Given the description of an element on the screen output the (x, y) to click on. 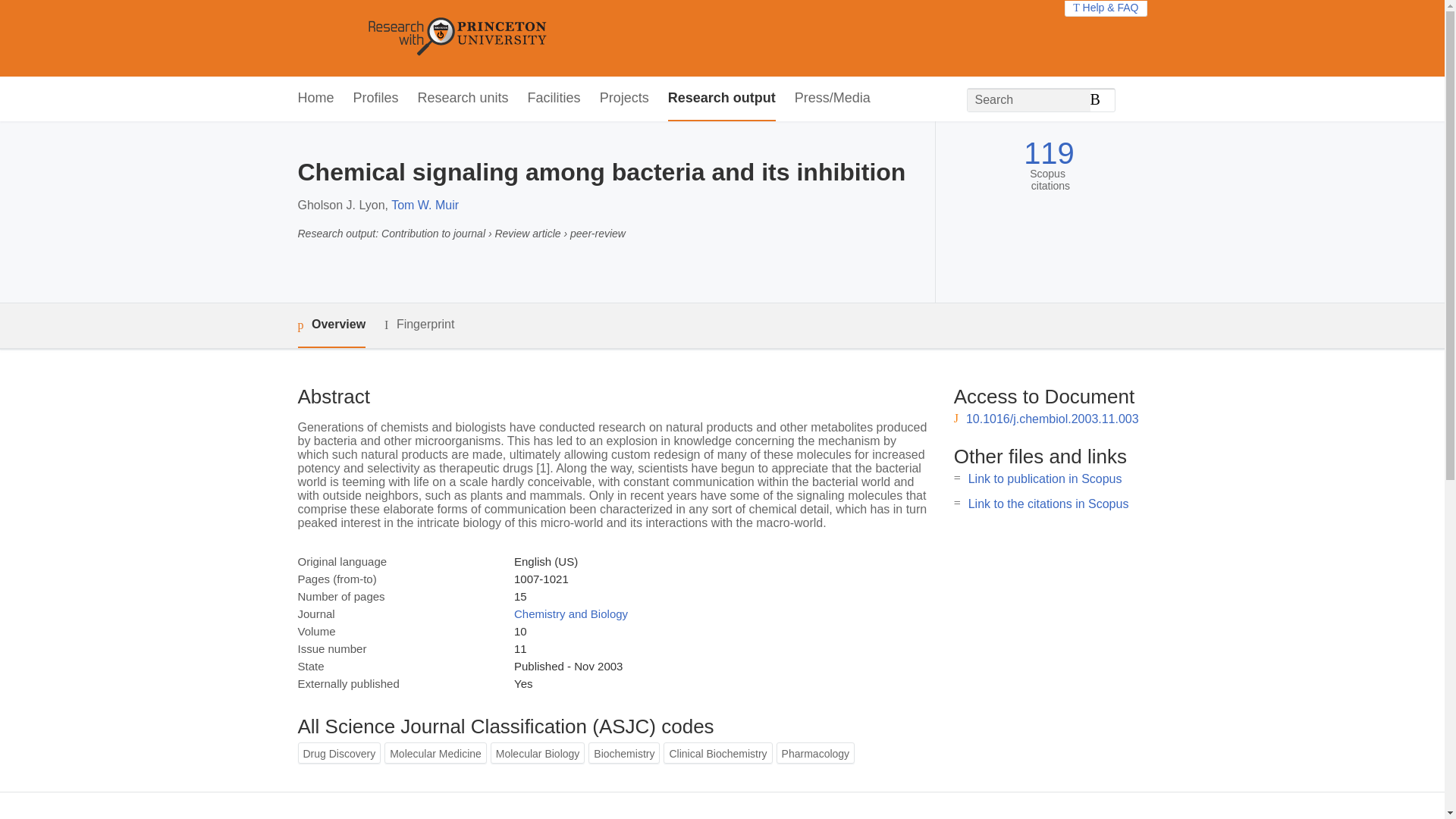
Research units (462, 98)
Link to publication in Scopus (1045, 478)
Research output (722, 98)
Link to the citations in Scopus (1048, 503)
Projects (624, 98)
Fingerprint (419, 324)
Overview (331, 325)
Chemistry and Biology (570, 613)
119 (1048, 153)
